Given the description of an element on the screen output the (x, y) to click on. 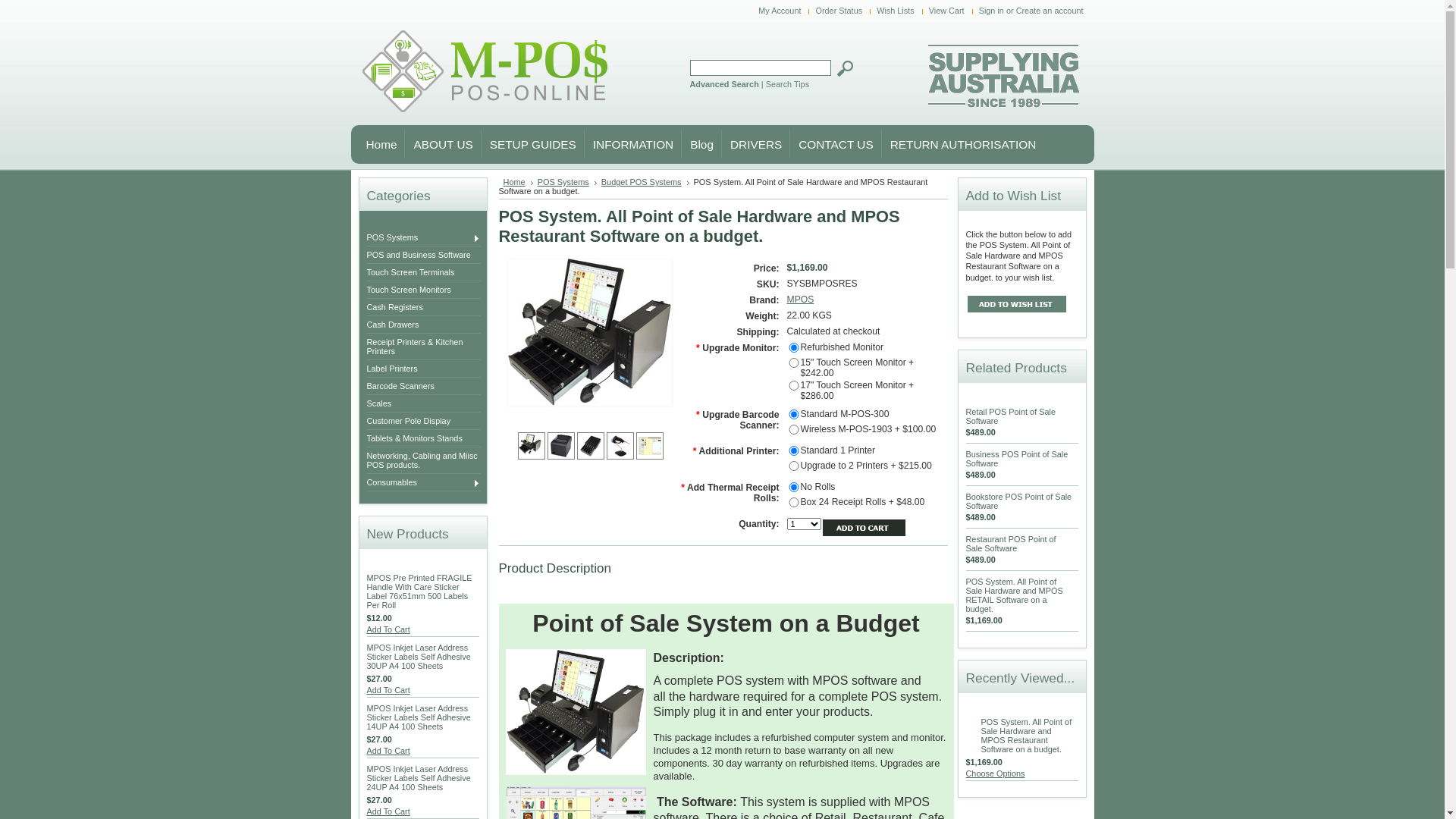
Business POS Point of Sale Software Element type: text (1017, 458)
Customer Pole Display Element type: text (426, 420)
Barcode Scanners Element type: text (426, 385)
Add To Cart Element type: text (388, 810)
POS and Business Software Element type: text (426, 254)
Networking, Cabling and Miisc POS products. Element type: text (426, 460)
Create an account Element type: text (1049, 10)
Scales Element type: text (426, 403)
Touch Screen Monitors Element type: text (426, 289)
0 Element type: text (530, 445)
Home Element type: text (518, 181)
INFORMATION Element type: text (628, 142)
Choose Options Element type: text (995, 773)
Restaurant POS Point of Sale Software Element type: text (1011, 543)
My Account Element type: text (781, 10)
MPOS410 Cash Drawer Element type: hover (590, 445)
POS Systems Element type: text (566, 181)
Label Printers Element type: text (426, 368)
0 Element type: text (589, 445)
0 Element type: text (648, 445)
ABOUT US Element type: text (438, 142)
Bookstore POS Point of Sale Software Element type: text (1019, 501)
Retail POS Point of Sale Software Element type: text (1010, 416)
MPOS Element type: text (800, 299)
RETURN AUTHORISATION Element type: text (958, 142)
MPOS265 POS Printer Element type: hover (560, 445)
Cash Drawers Element type: text (426, 324)
Advanced Search Element type: text (724, 83)
Blog Element type: text (696, 142)
0 Element type: text (619, 445)
Home Element type: text (376, 142)
Add To Cart Element type: text (388, 689)
0 Element type: text (560, 445)
SETUP GUIDES Element type: text (528, 142)
Wish Lists Element type: text (897, 10)
CONTACT US Element type: text (830, 142)
Add To Cart Element type: text (388, 628)
Receipt Printers & Kitchen Printers Element type: text (426, 346)
DRIVERS Element type: text (751, 142)
Sign in Element type: text (991, 10)
View Cart Element type: text (948, 10)
Tablets & Monitors Stands Element type: text (426, 437)
Image 5 Element type: hover (649, 444)
407 Element type: text (4, 4)
Budget POS Systems Element type: text (645, 181)
Cash Registers Element type: text (426, 306)
MPOS300 Barcode Scanner Element type: hover (619, 445)
Search Tips Element type: text (787, 83)
Touch Screen Terminals Element type: text (426, 271)
Add To Cart Element type: text (388, 750)
Order Status Element type: text (840, 10)
